Given the description of an element on the screen output the (x, y) to click on. 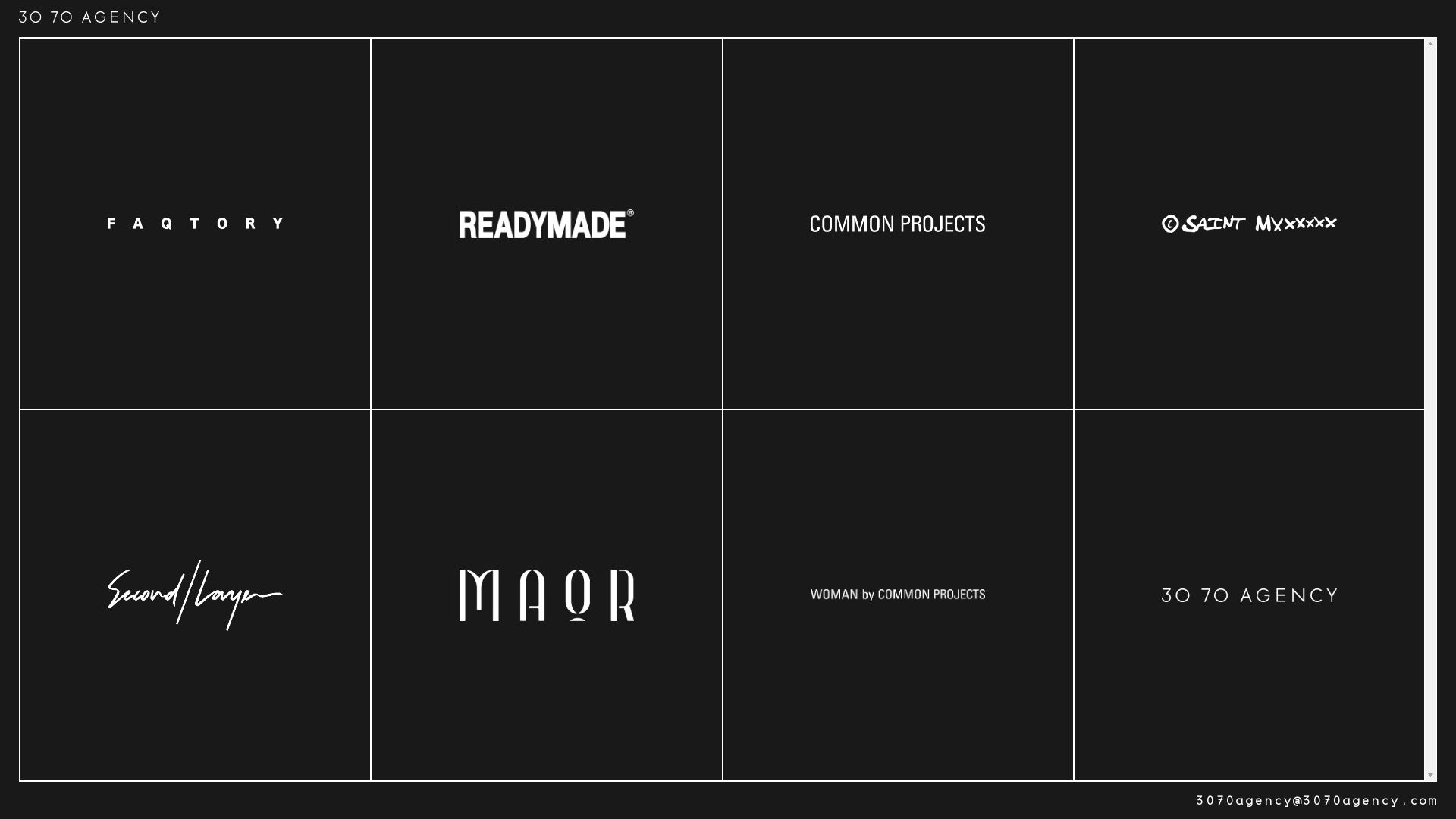
3070agency@3070agency.com Element type: text (1316, 800)
